Given the description of an element on the screen output the (x, y) to click on. 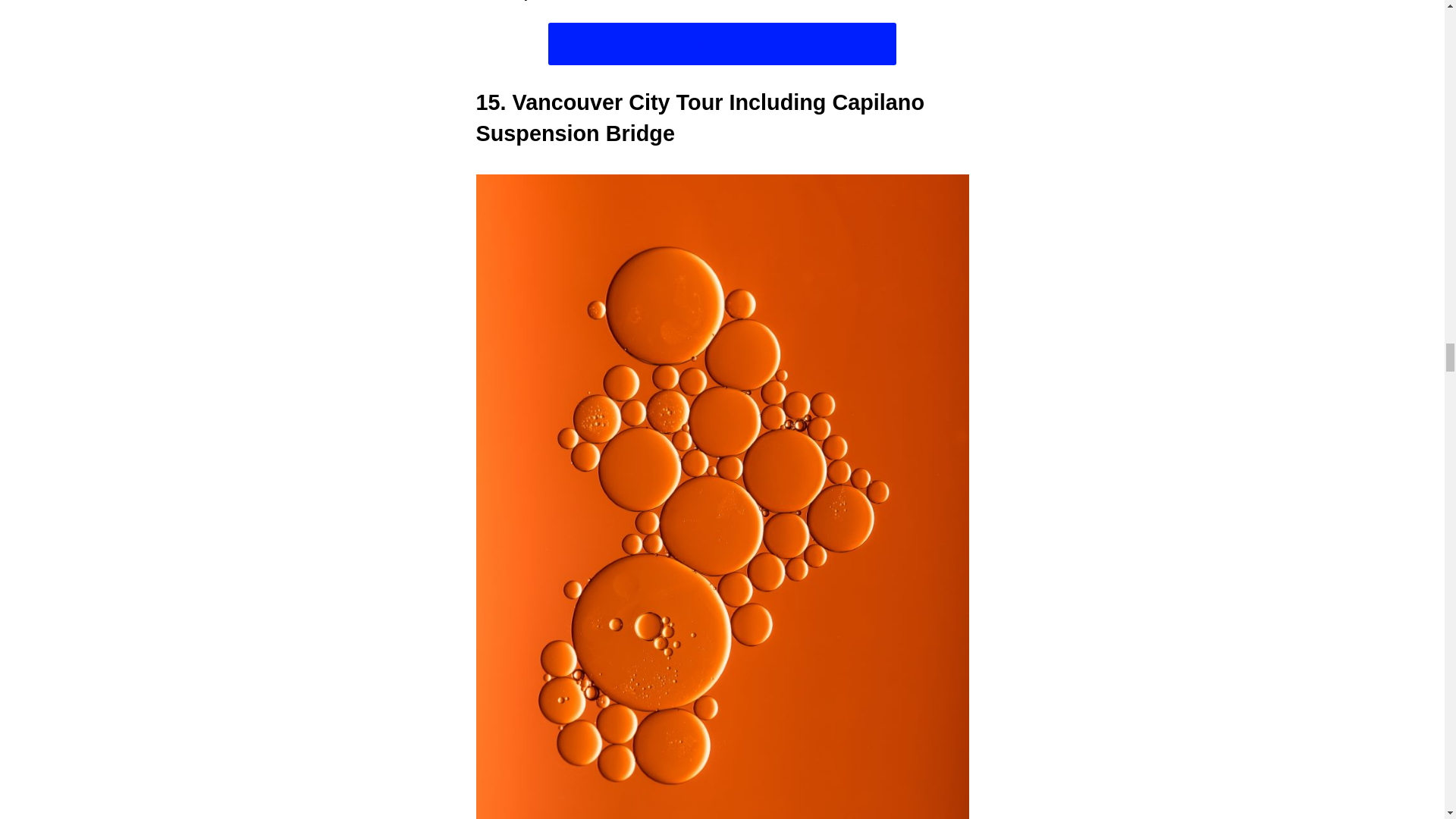
Check out Private Tour Vancouver City Sightseeing (722, 44)
